Given the description of an element on the screen output the (x, y) to click on. 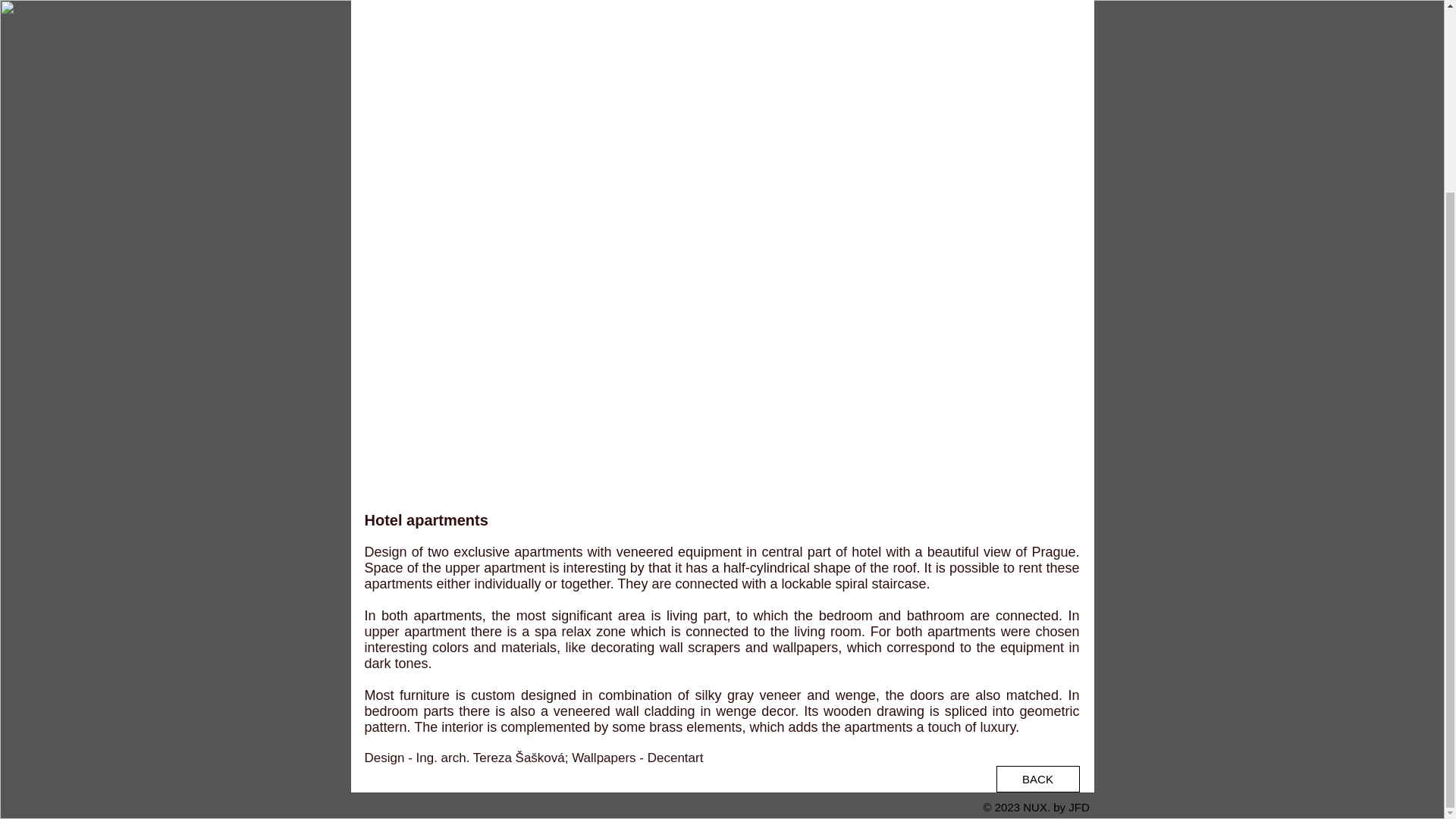
BACK (1037, 778)
